Given the description of an element on the screen output the (x, y) to click on. 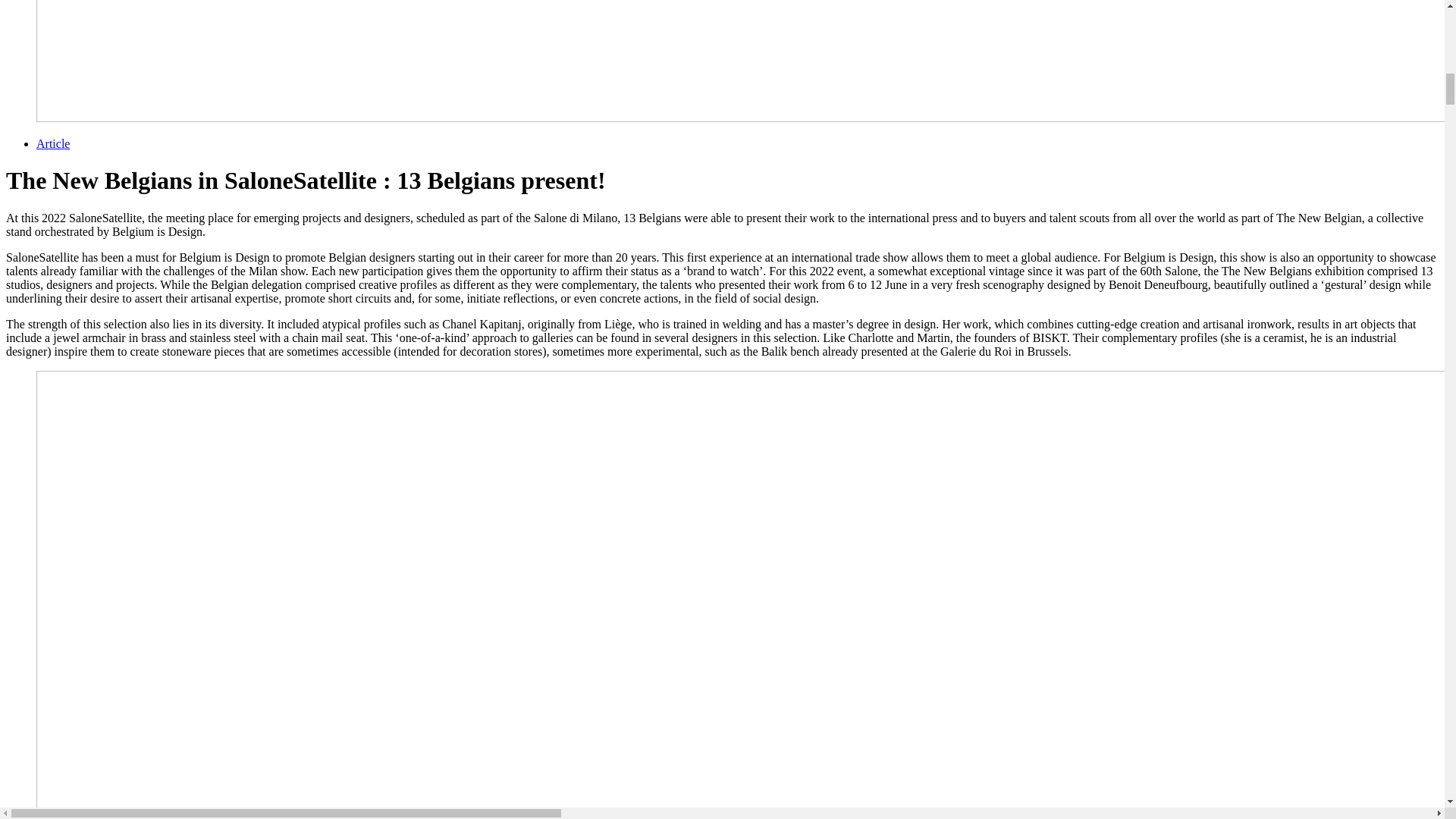
Article (52, 143)
